Given the description of an element on the screen output the (x, y) to click on. 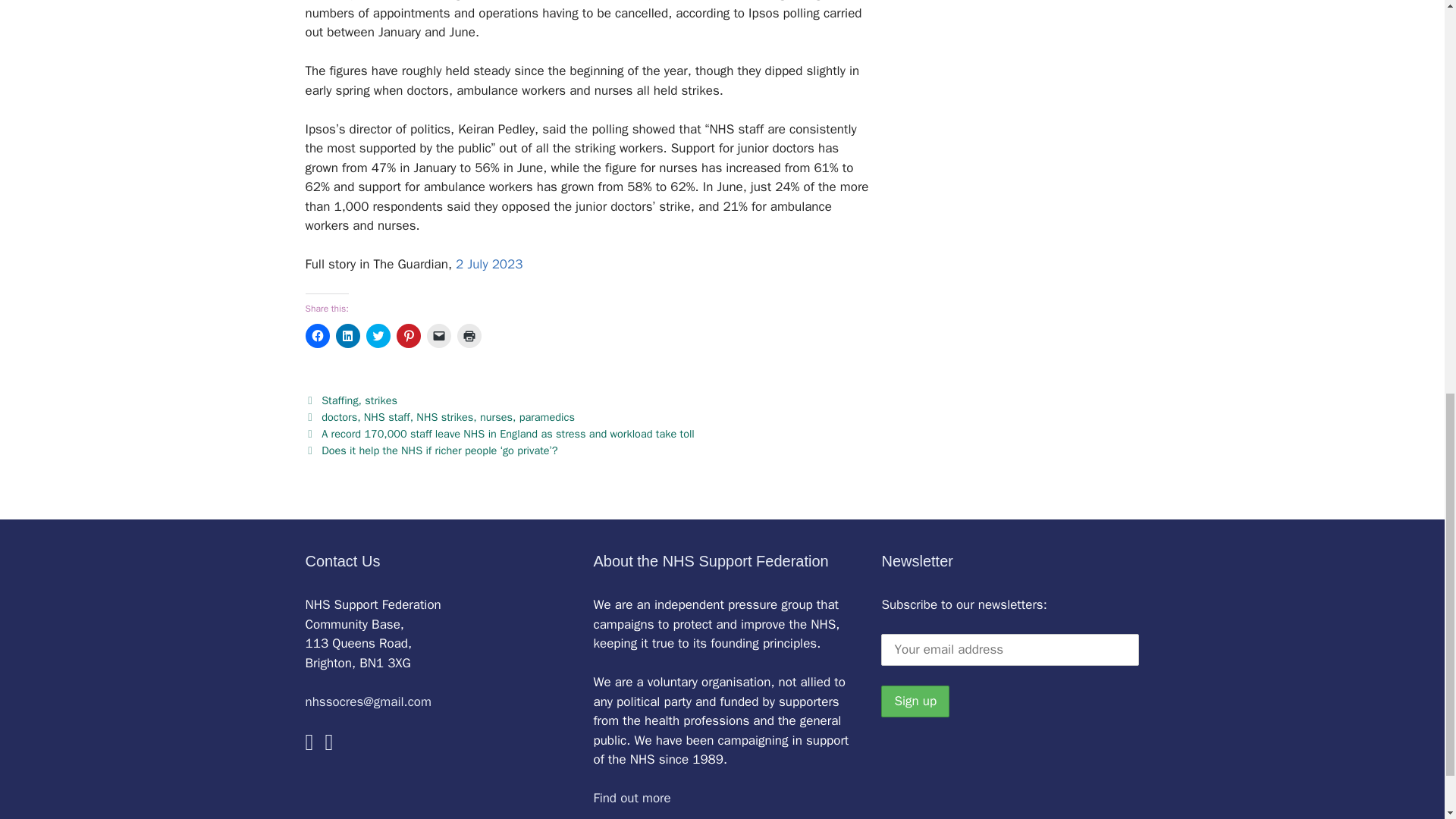
Click to share on Facebook (316, 335)
Click to share on Twitter (377, 335)
Scroll back to top (1406, 720)
Sign up (914, 701)
Click to email a link to a friend (437, 335)
Click to share on Pinterest (408, 335)
Click to share on LinkedIn (346, 335)
Click to print (468, 335)
